Given the description of an element on the screen output the (x, y) to click on. 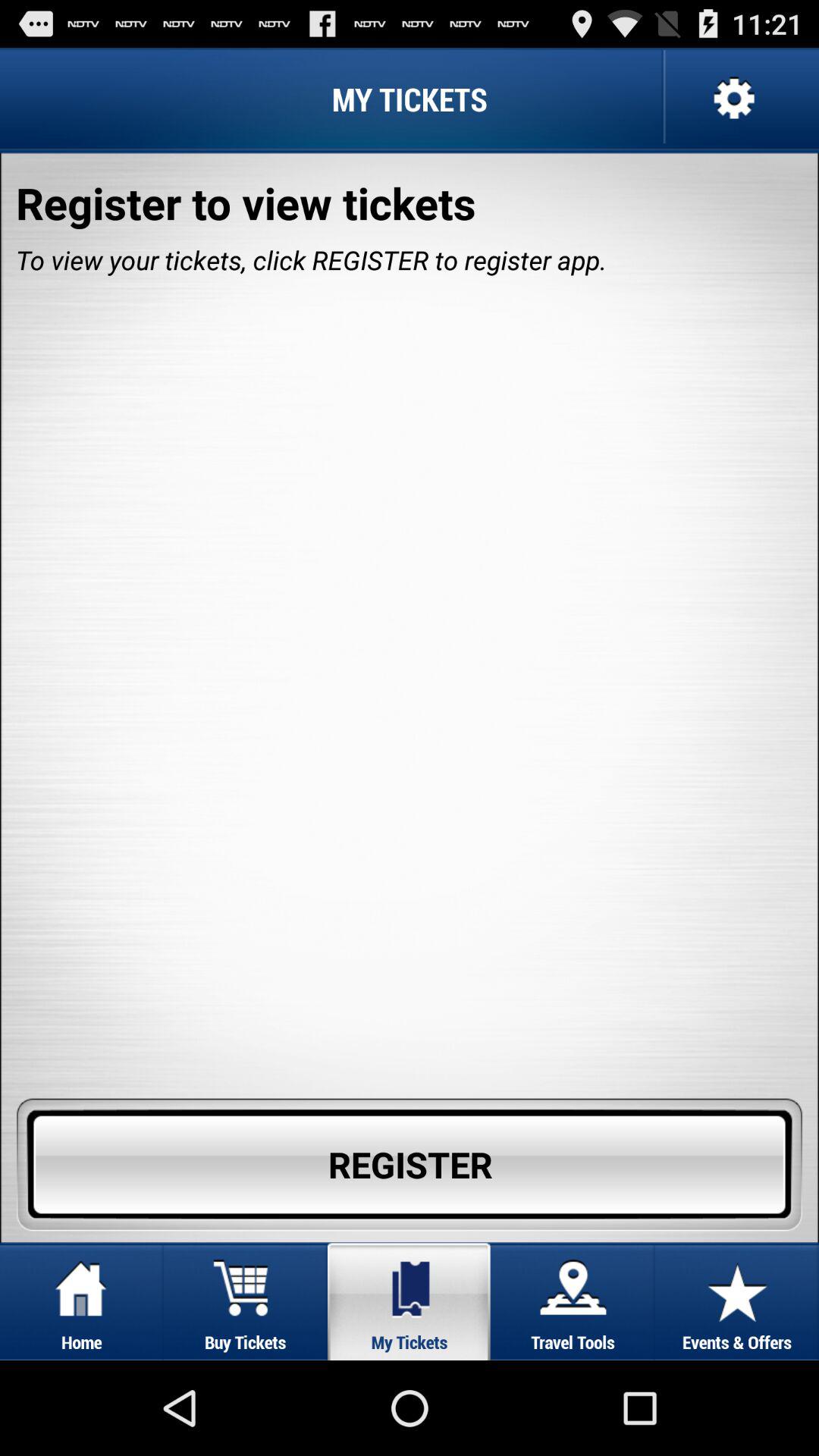
go to settings menu (732, 99)
